Given the description of an element on the screen output the (x, y) to click on. 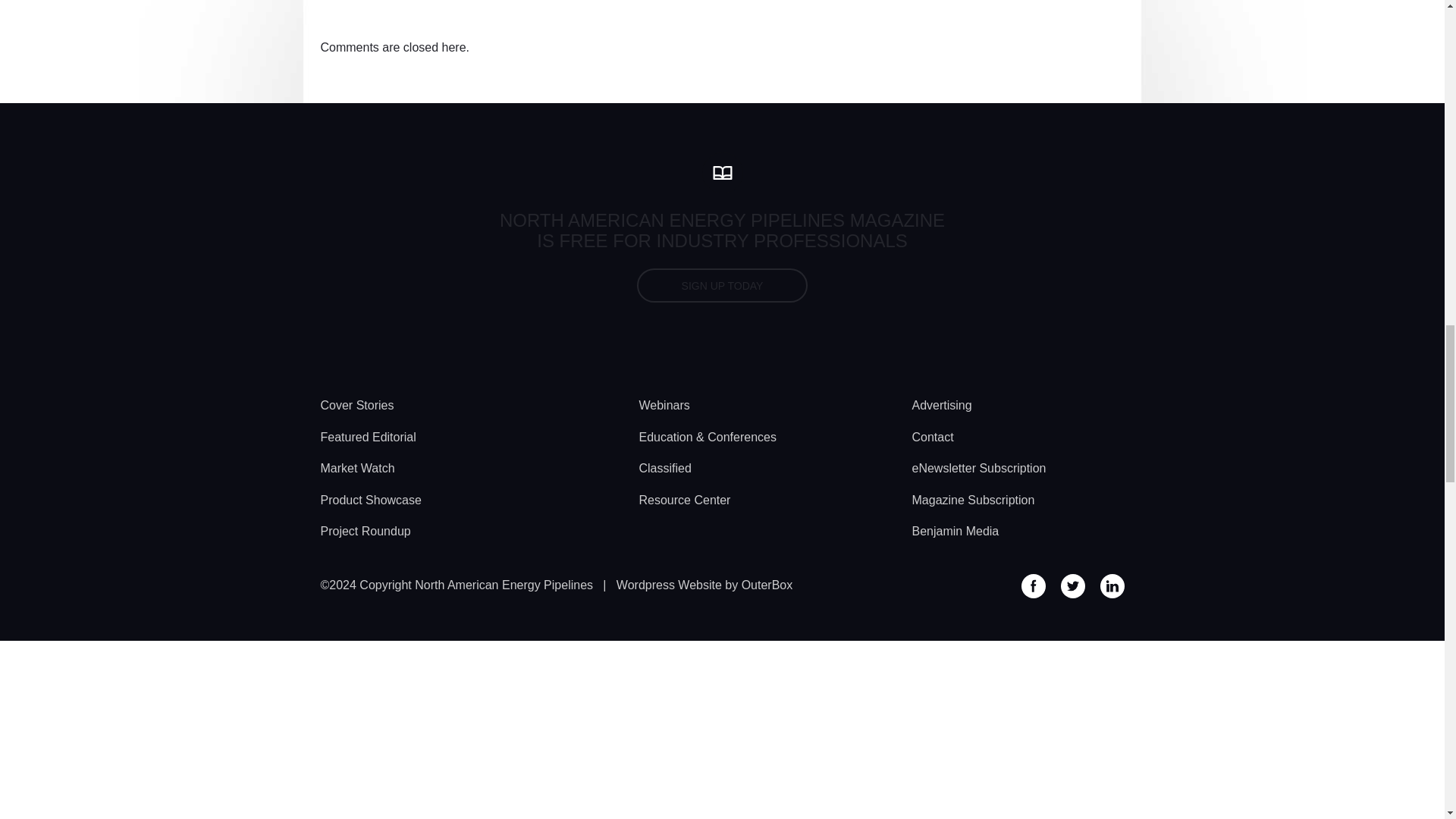
Product Showcase (370, 499)
SIGN UP TODAY (722, 285)
Featured Editorial (367, 437)
Cover Stories (356, 405)
Outerbox (703, 584)
Market Watch (357, 467)
